Given the description of an element on the screen output the (x, y) to click on. 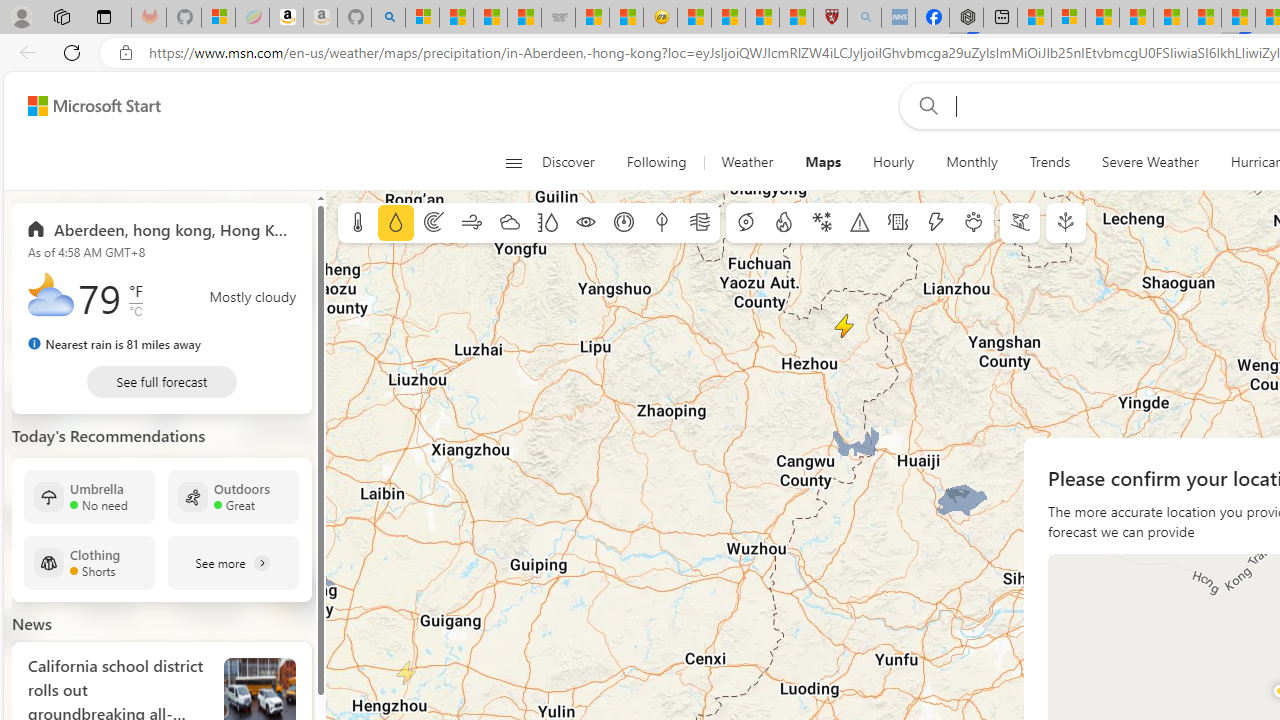
Hourly (893, 162)
Air quality (700, 223)
MSN (1238, 17)
Skip to footer (82, 105)
Microsoft account | Privacy (1068, 17)
Following (658, 162)
list of asthma inhalers uk - Search - Sleeping (863, 17)
Microsoft Start (94, 105)
Lightning (935, 223)
Hurricane (746, 223)
Radar (433, 223)
Earthquake (898, 223)
Science - MSN (762, 17)
